Given the description of an element on the screen output the (x, y) to click on. 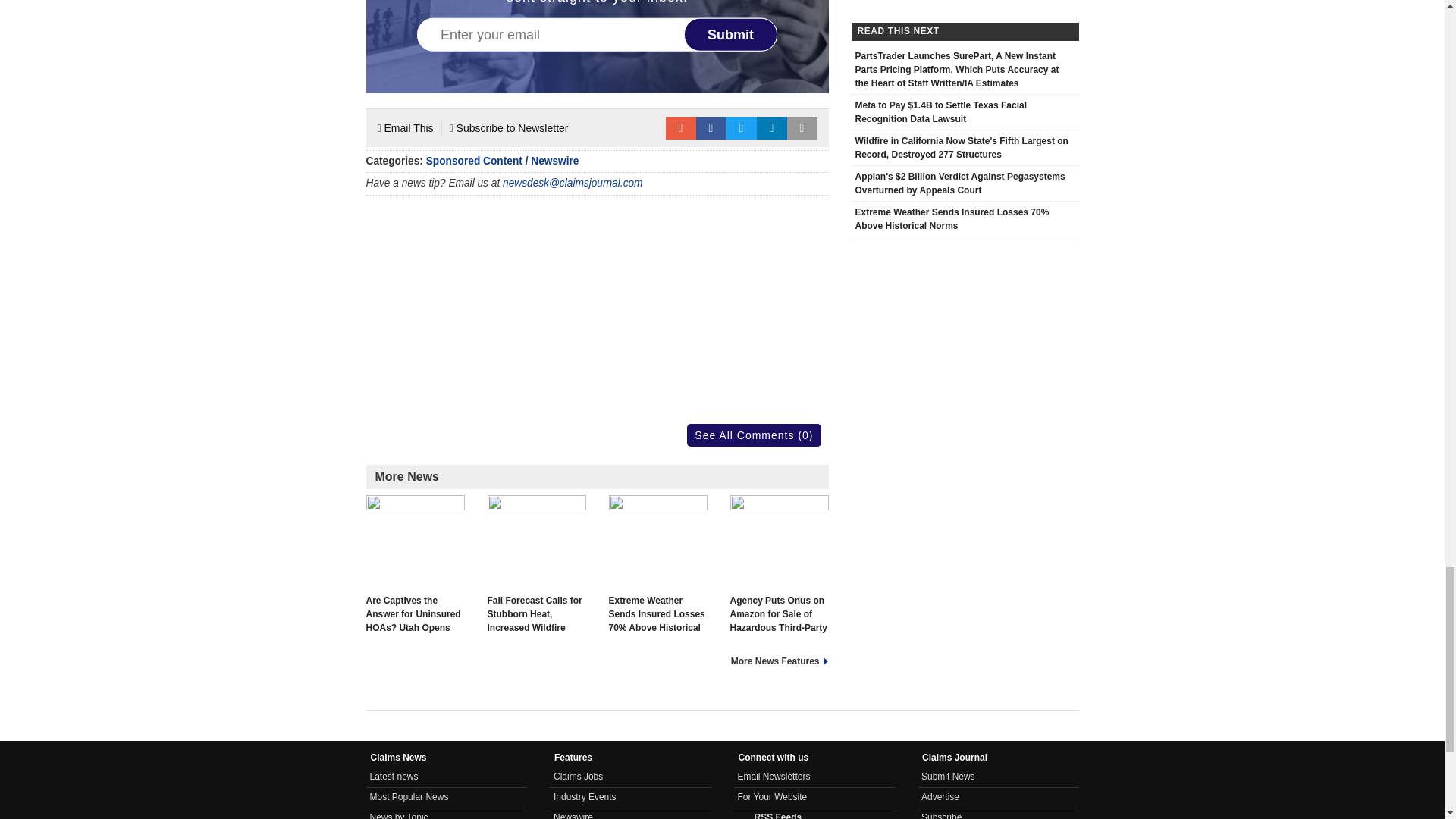
Post to Facebook. (710, 128)
Insurance News by Topic (398, 815)
Email to a friend (680, 128)
Share on Twitter. (741, 128)
Share on LinkedIn. (772, 128)
Print Article (801, 128)
Submit (730, 34)
